Given the description of an element on the screen output the (x, y) to click on. 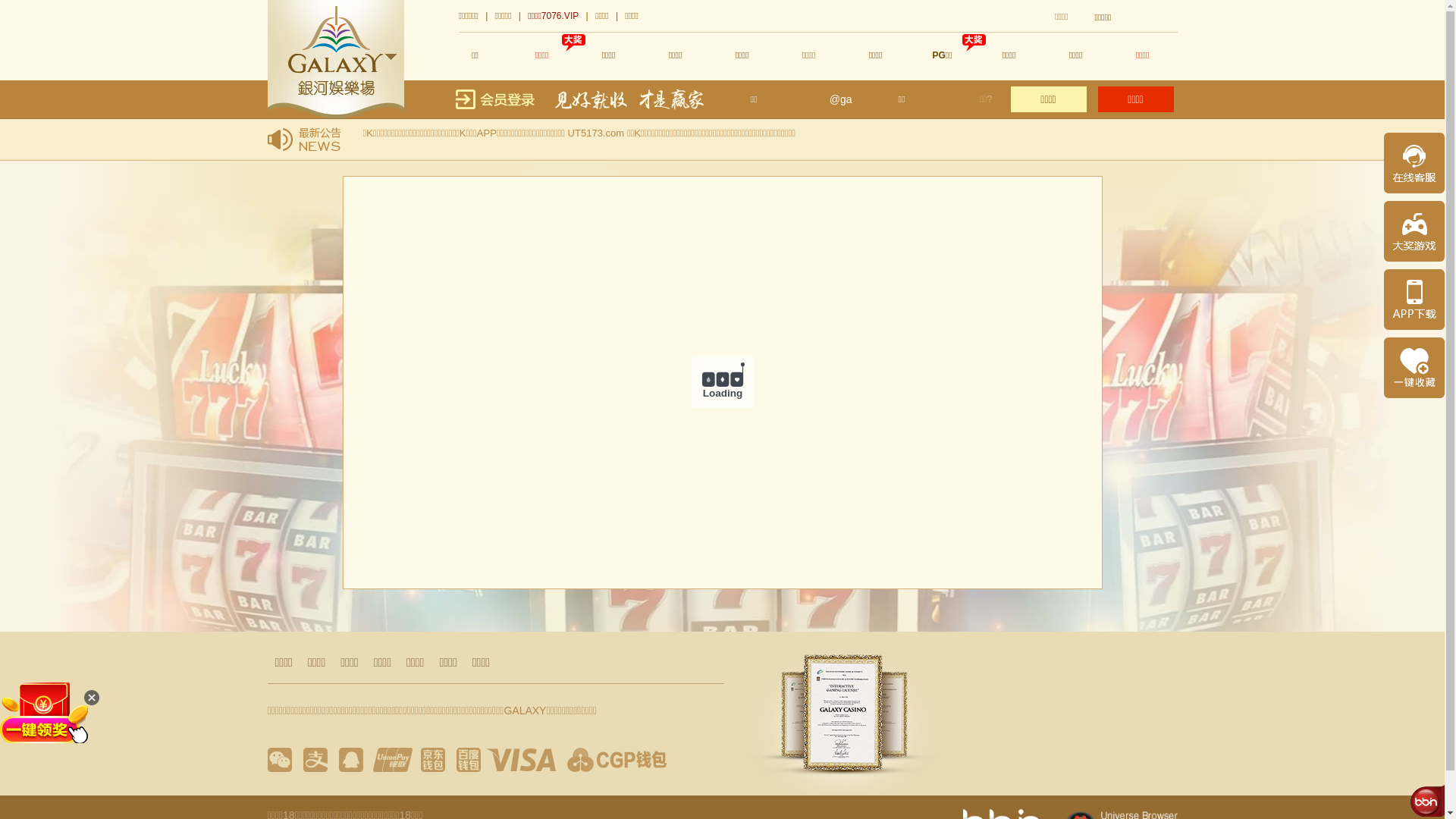
English Element type: hover (1157, 16)
